Given the description of an element on the screen output the (x, y) to click on. 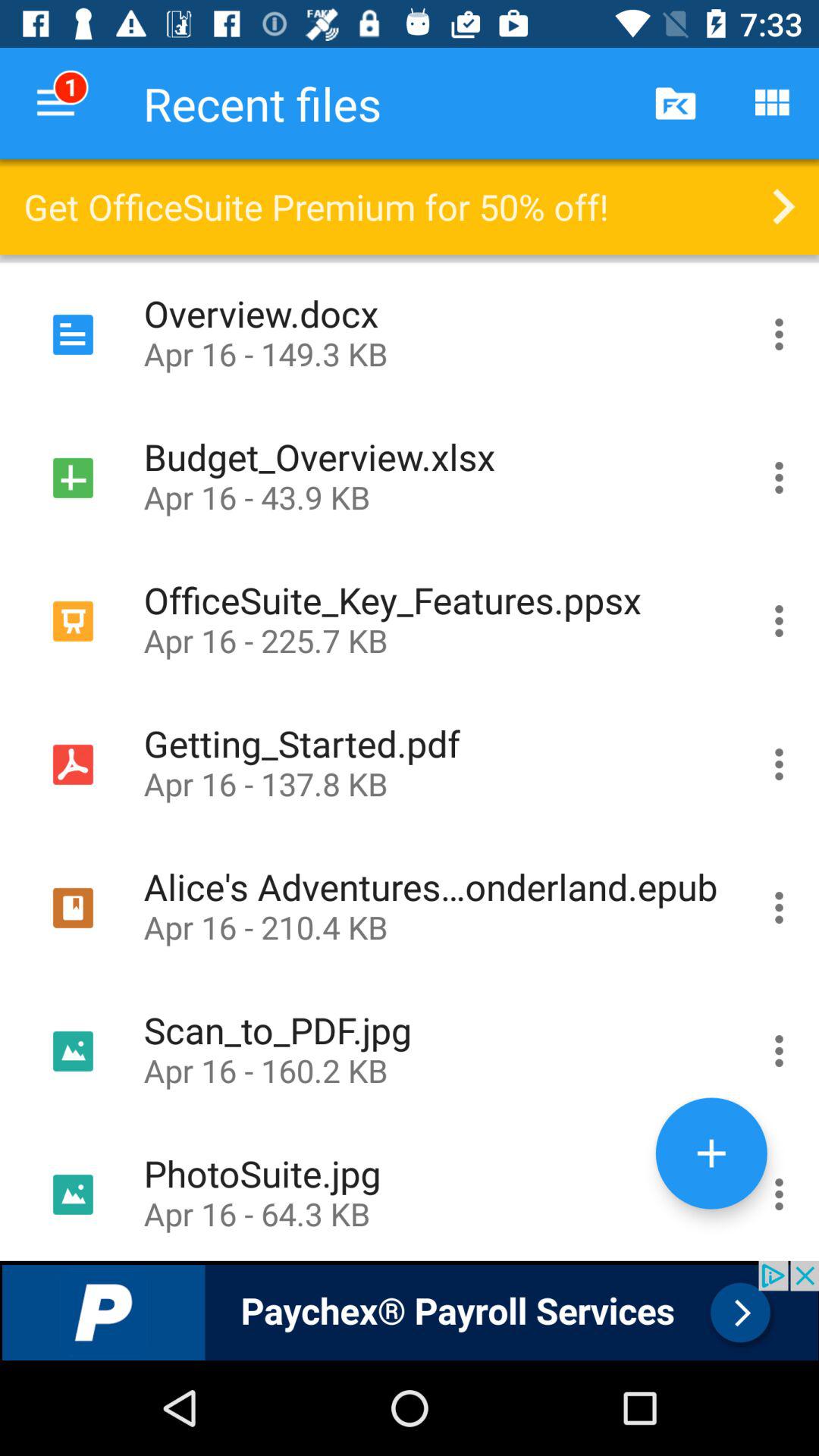
add a item (711, 1153)
